Given the description of an element on the screen output the (x, y) to click on. 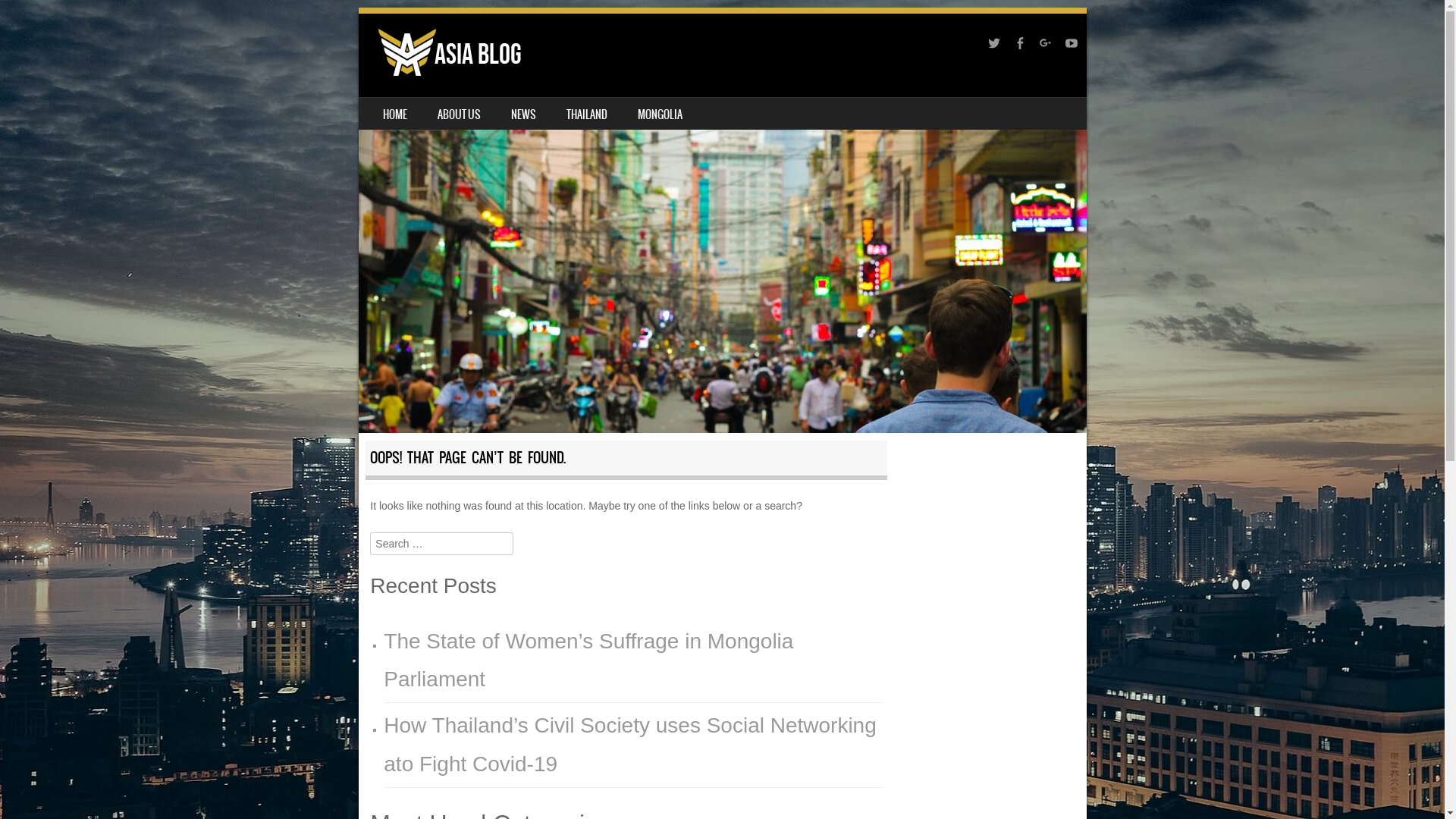
HOME Element type: text (394, 113)
Asia Blog Element type: hover (441, 51)
Search Element type: text (33, 17)
ABOUT US Element type: text (458, 113)
THAILAND Element type: text (585, 113)
SKIP TO CONTENT Element type: text (393, 107)
MONGOLIA Element type: text (658, 113)
Asia Blog Element type: hover (721, 223)
NEWS Element type: text (523, 113)
